Given the description of an element on the screen output the (x, y) to click on. 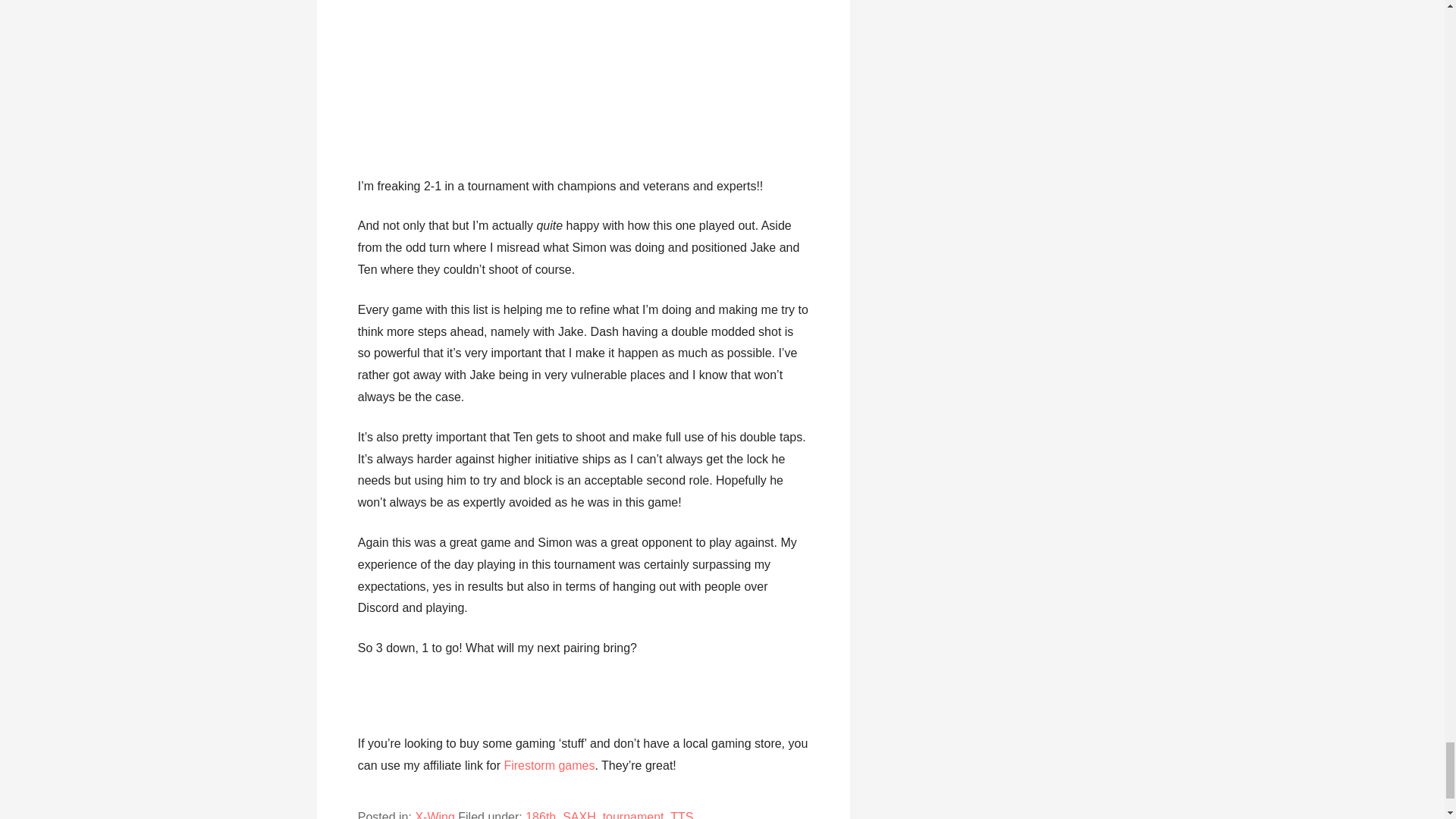
186th (540, 814)
tournament (632, 814)
X-Wing (434, 814)
TTS (681, 814)
Firestorm games (548, 765)
SAXH (578, 814)
